Given the description of an element on the screen output the (x, y) to click on. 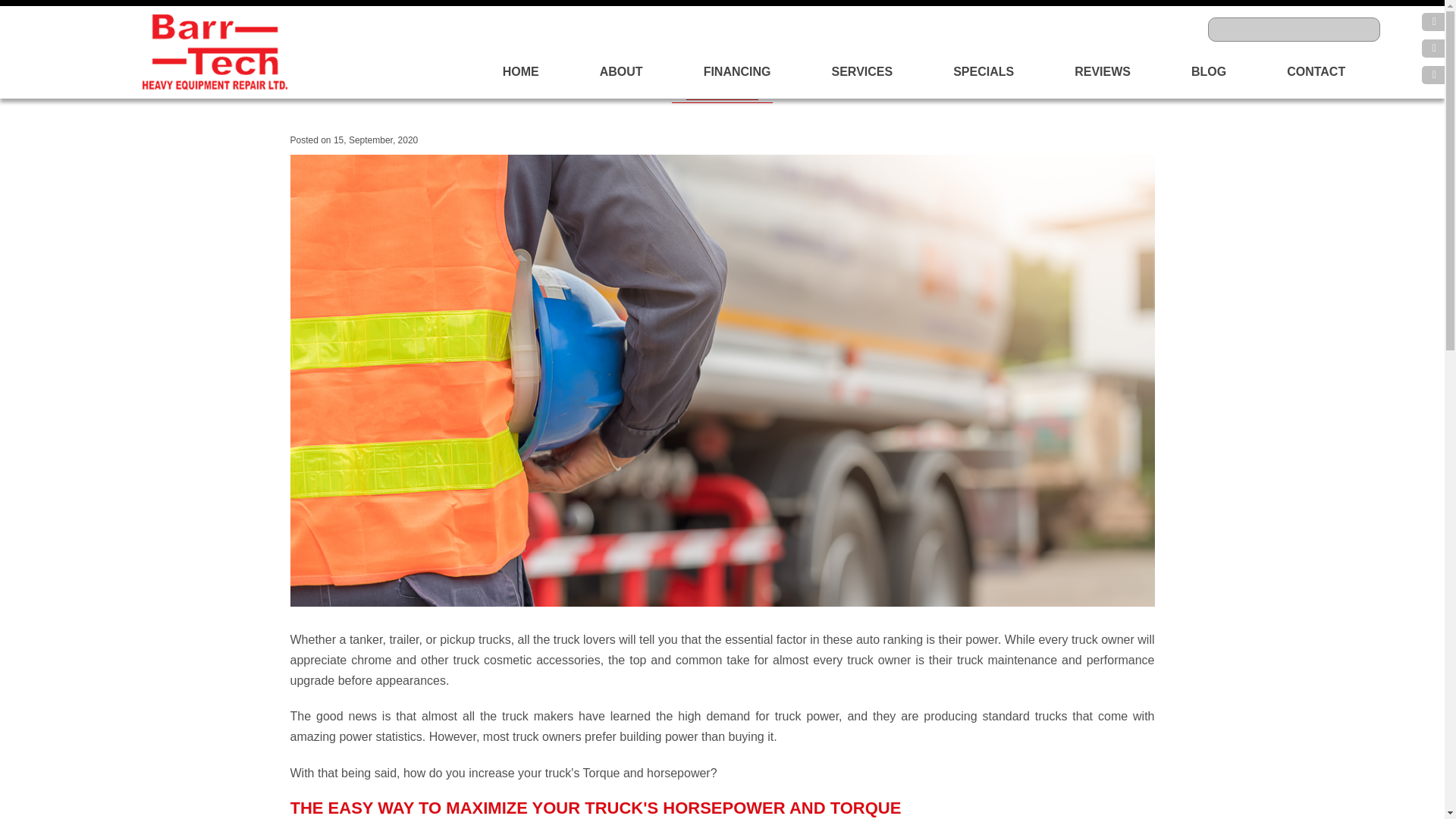
SERVICES (862, 72)
BLOG (1208, 72)
REVIEWS (1102, 72)
CONTACT (1315, 72)
ABOUT (621, 72)
SPECIALS (983, 72)
FINANCING (737, 72)
HOME (520, 72)
